Given the description of an element on the screen output the (x, y) to click on. 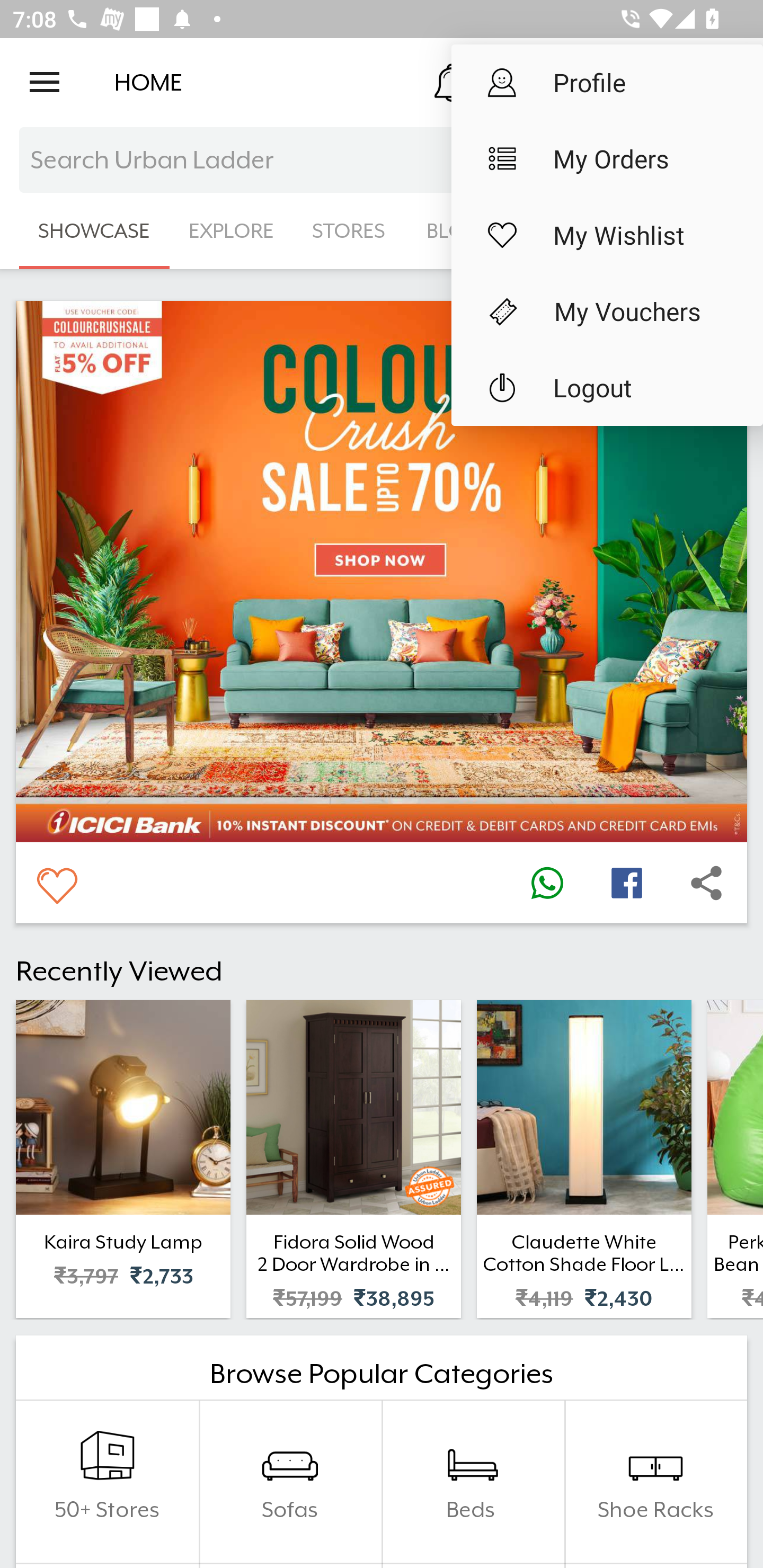
Profile (607, 81)
My Orders (607, 158)
My Wishlist (607, 234)
My Vouchers (607, 310)
Logout (607, 387)
